Given the description of an element on the screen output the (x, y) to click on. 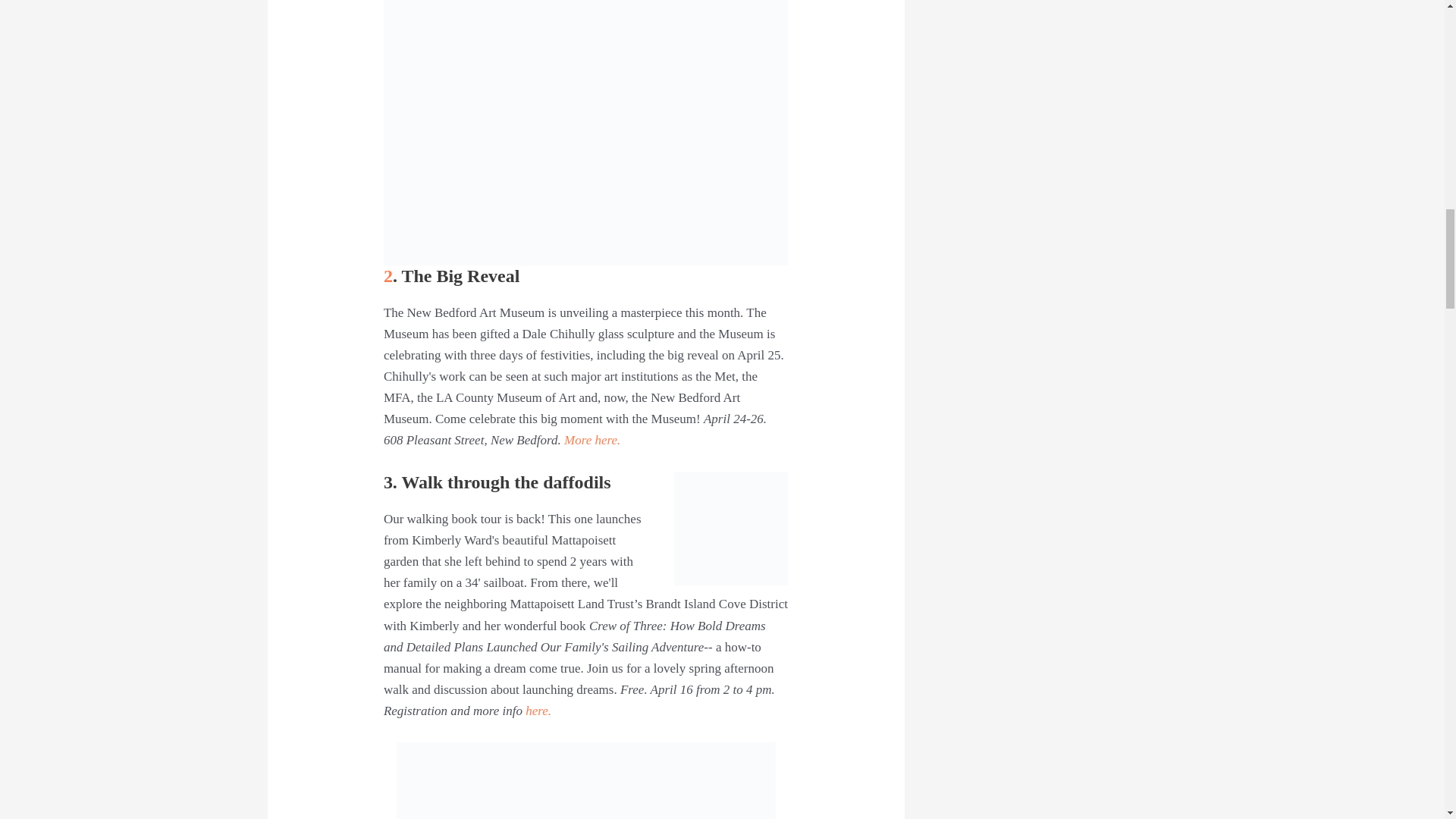
here. (538, 710)
More here.  (594, 440)
